Given the description of an element on the screen output the (x, y) to click on. 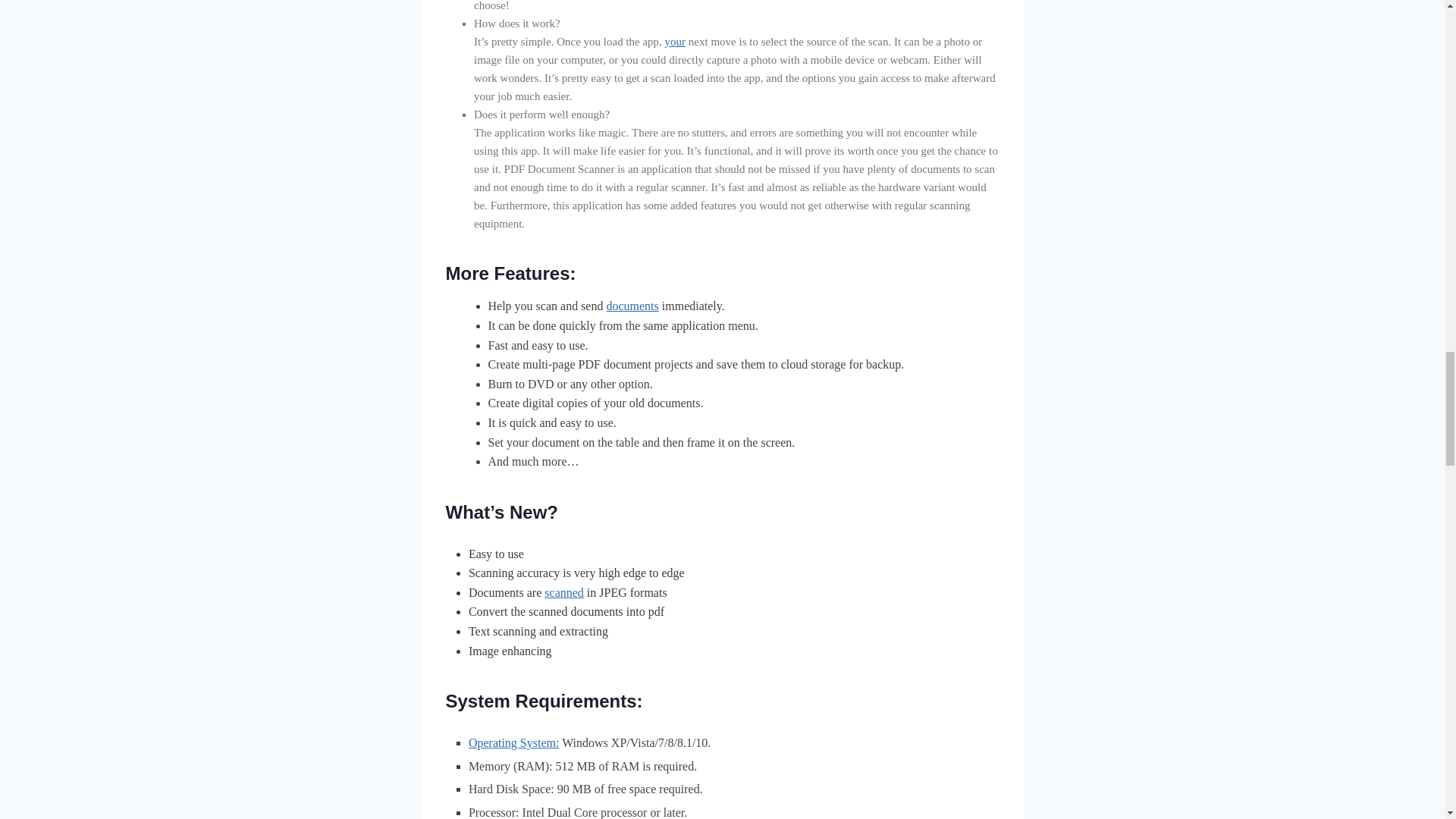
scanned (563, 592)
Operating System: (513, 742)
your (675, 41)
documents (631, 305)
